Given the description of an element on the screen output the (x, y) to click on. 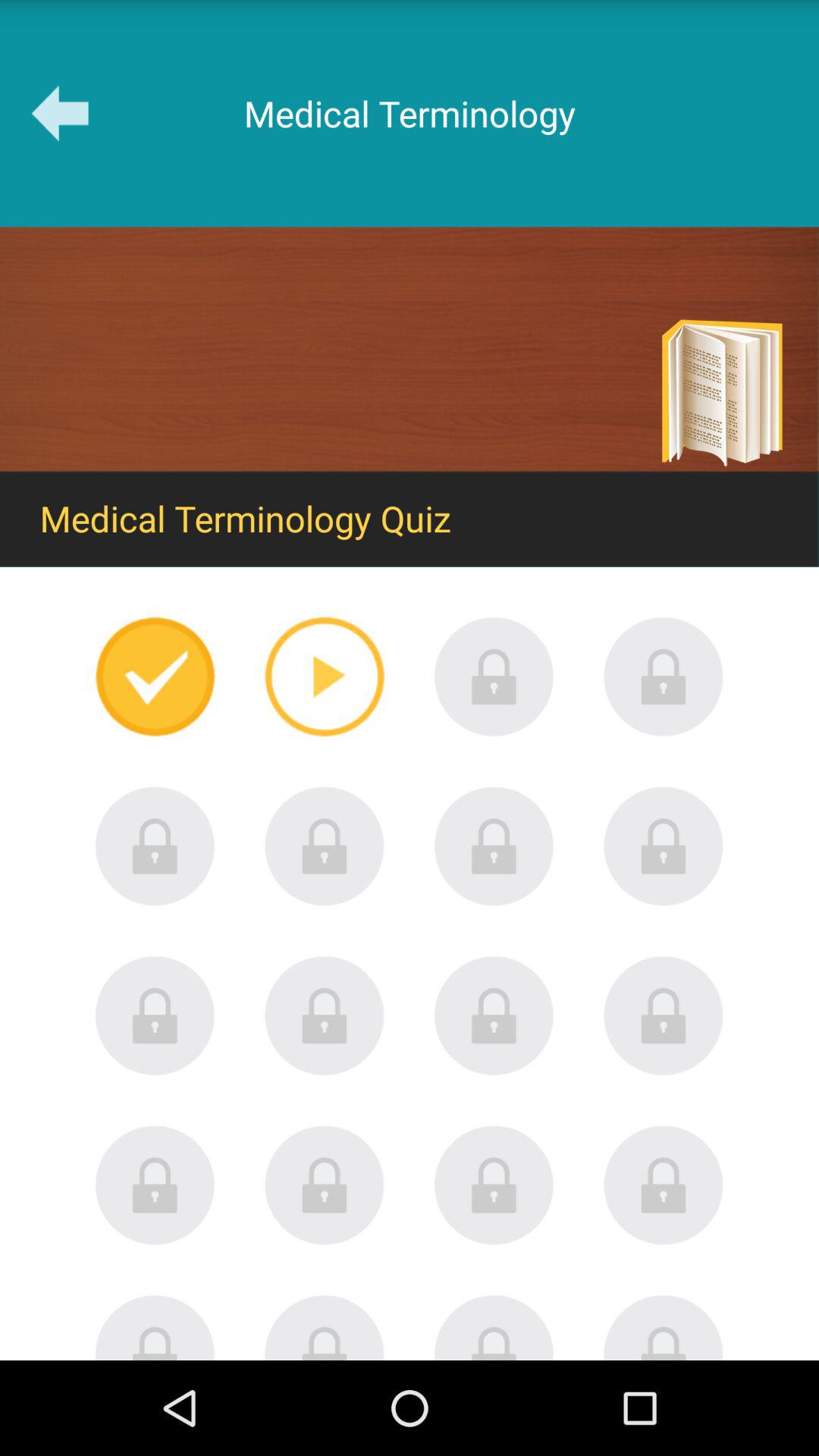
open the item (493, 846)
